Given the description of an element on the screen output the (x, y) to click on. 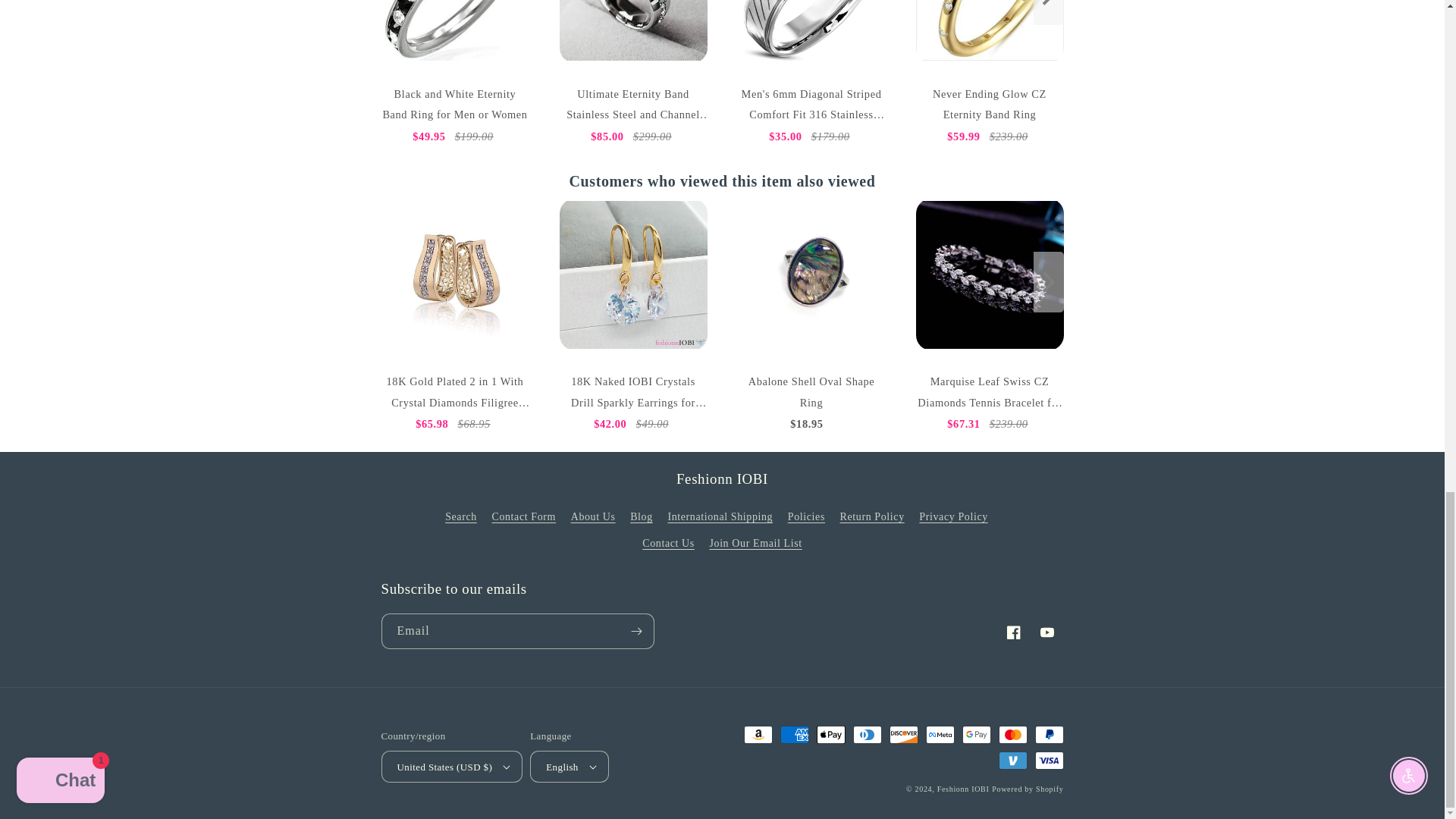
Abalone Shell Oval Shape Ring (810, 274)
Black and White Eternity Band Ring for Men or Women (454, 31)
Never Ending Glow CZ Eternity Band Ring (989, 31)
